Given the description of an element on the screen output the (x, y) to click on. 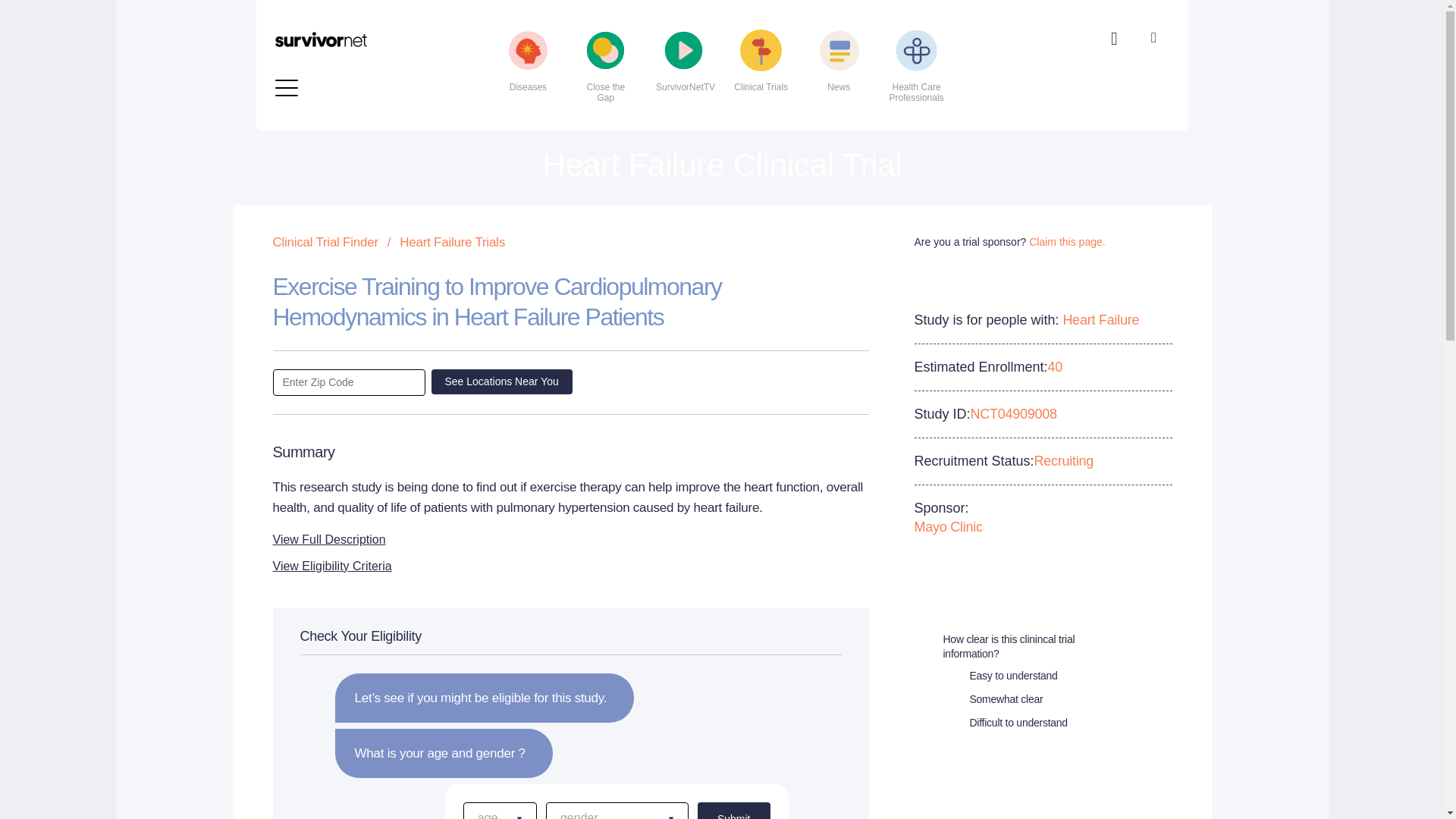
Ovarian Cancer (661, 7)
Psoriasis (661, 52)
Prostate Cancer (661, 28)
Heart Failure (364, 28)
Liver Cancer (364, 78)
Esophageal Cancer (364, 7)
